Given the description of an element on the screen output the (x, y) to click on. 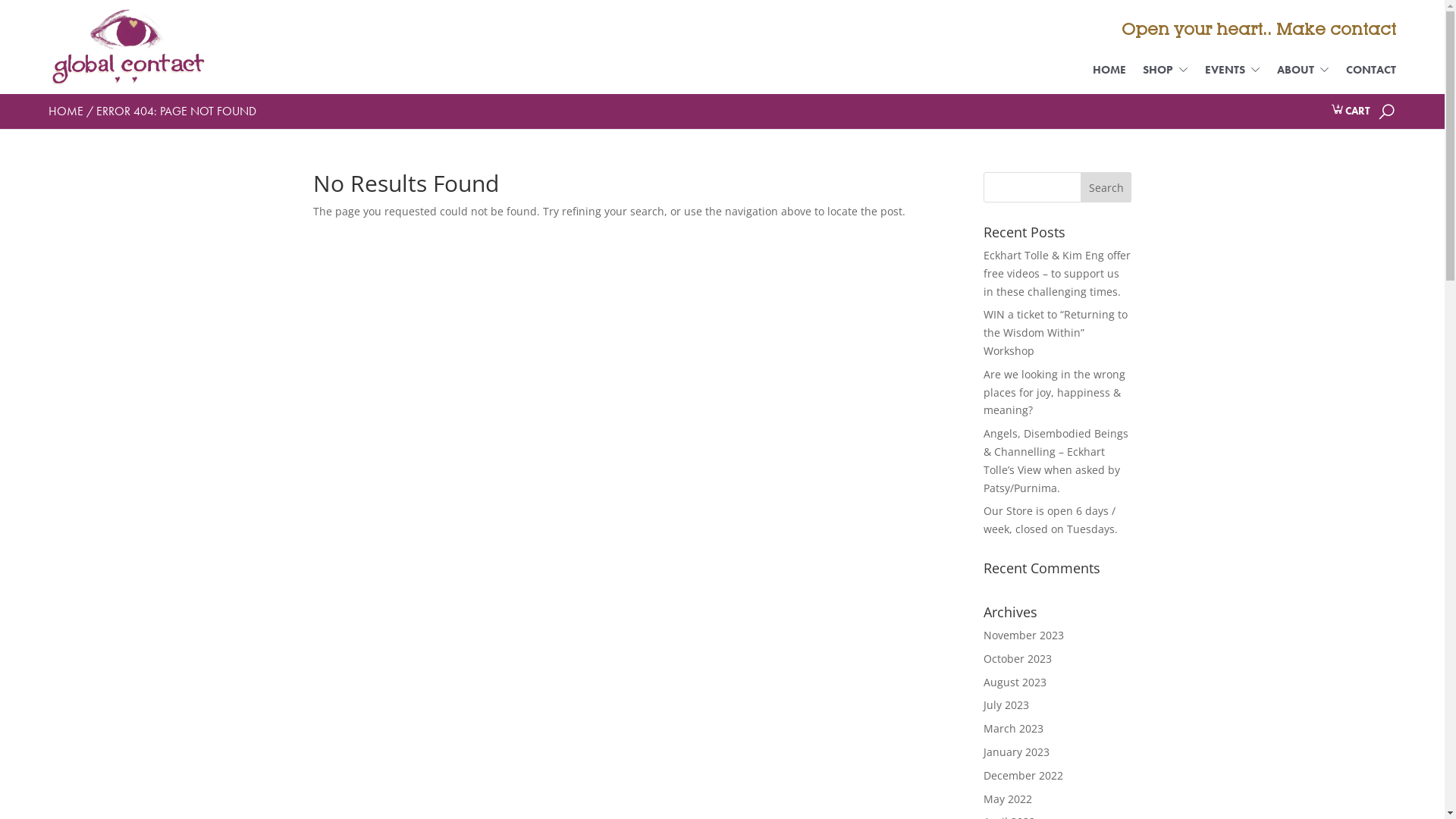
January 2023 Element type: text (1016, 751)
ABOUT Element type: text (1303, 79)
November 2023 Element type: text (1023, 634)
Our Store is open 6 days / week, closed on Tuesdays. Element type: text (1050, 519)
December 2022 Element type: text (1023, 775)
August 2023 Element type: text (1014, 681)
March 2023 Element type: text (1013, 728)
EVENTS Element type: text (1232, 79)
July 2023 Element type: text (1006, 704)
CONTACT Element type: text (1371, 79)
May 2022 Element type: text (1007, 798)
HOME Element type: text (1109, 79)
October 2023 Element type: text (1017, 658)
CART Element type: text (1349, 110)
HOME Element type: text (65, 111)
Search Element type: text (1106, 187)
SHOP Element type: text (1165, 79)
